Given the description of an element on the screen output the (x, y) to click on. 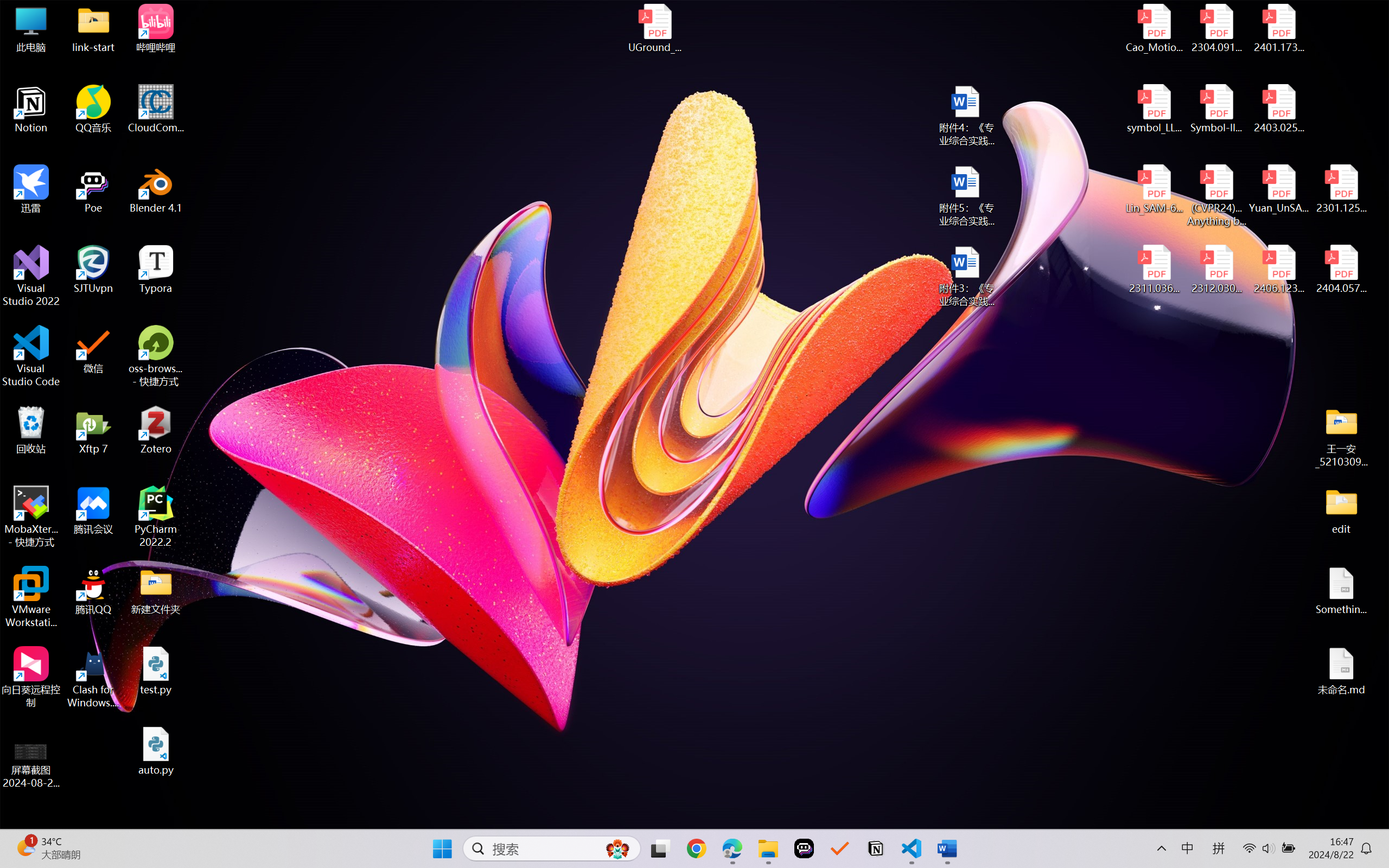
Something.md (1340, 591)
2401.17399v1.pdf (1278, 28)
Google Chrome (696, 848)
test.py (156, 670)
